Given the description of an element on the screen output the (x, y) to click on. 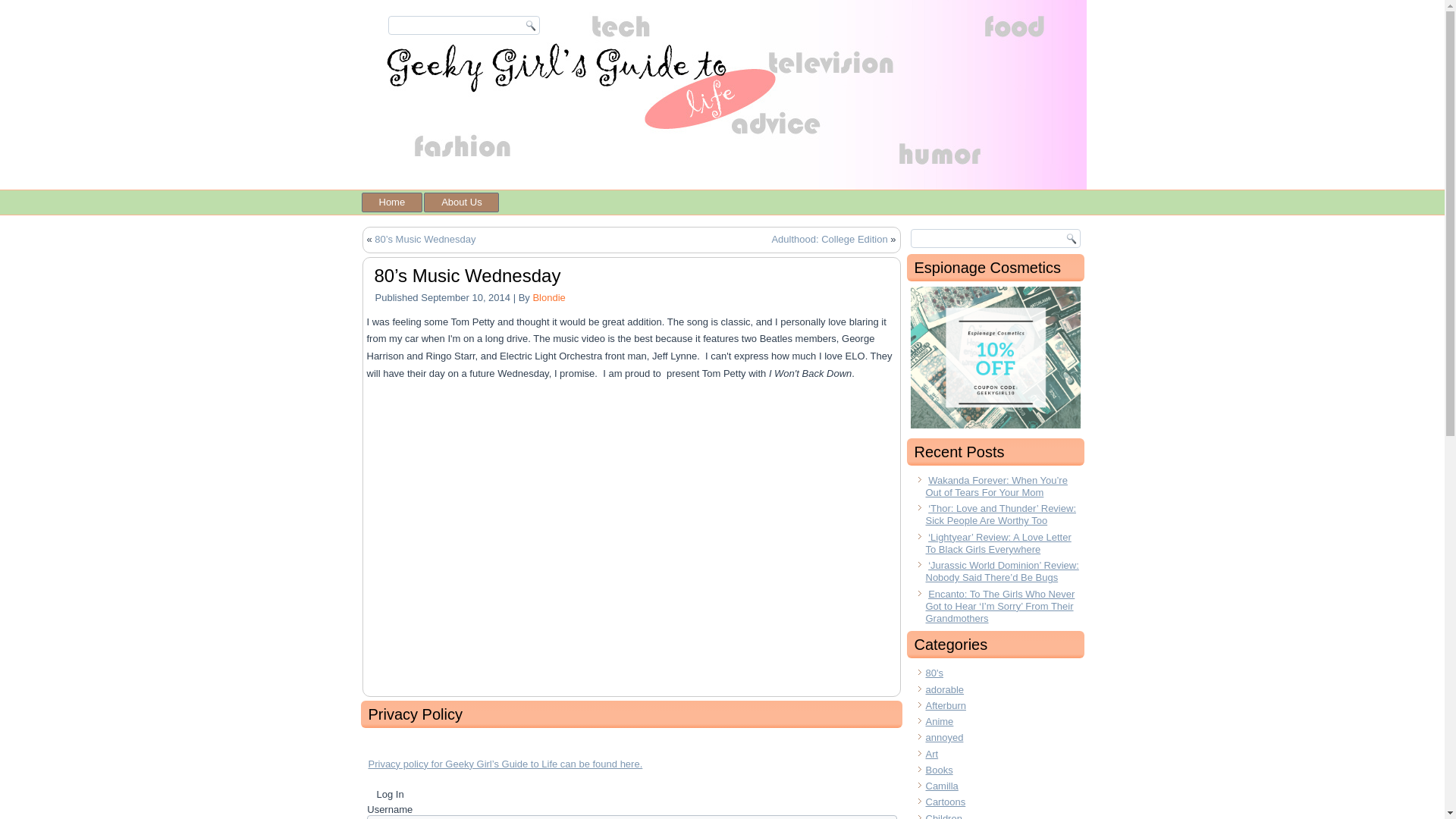
About Us (461, 202)
Adulthood: College Edition (828, 238)
adorable (943, 689)
Afterburn (944, 705)
Art (930, 754)
Camilla (941, 785)
Children (942, 816)
6:12 am (465, 297)
Anime (938, 721)
Home (391, 202)
Home (391, 202)
Adulthood: College Edition (828, 238)
80's (933, 672)
Cartoons (944, 801)
Books (938, 769)
